Given the description of an element on the screen output the (x, y) to click on. 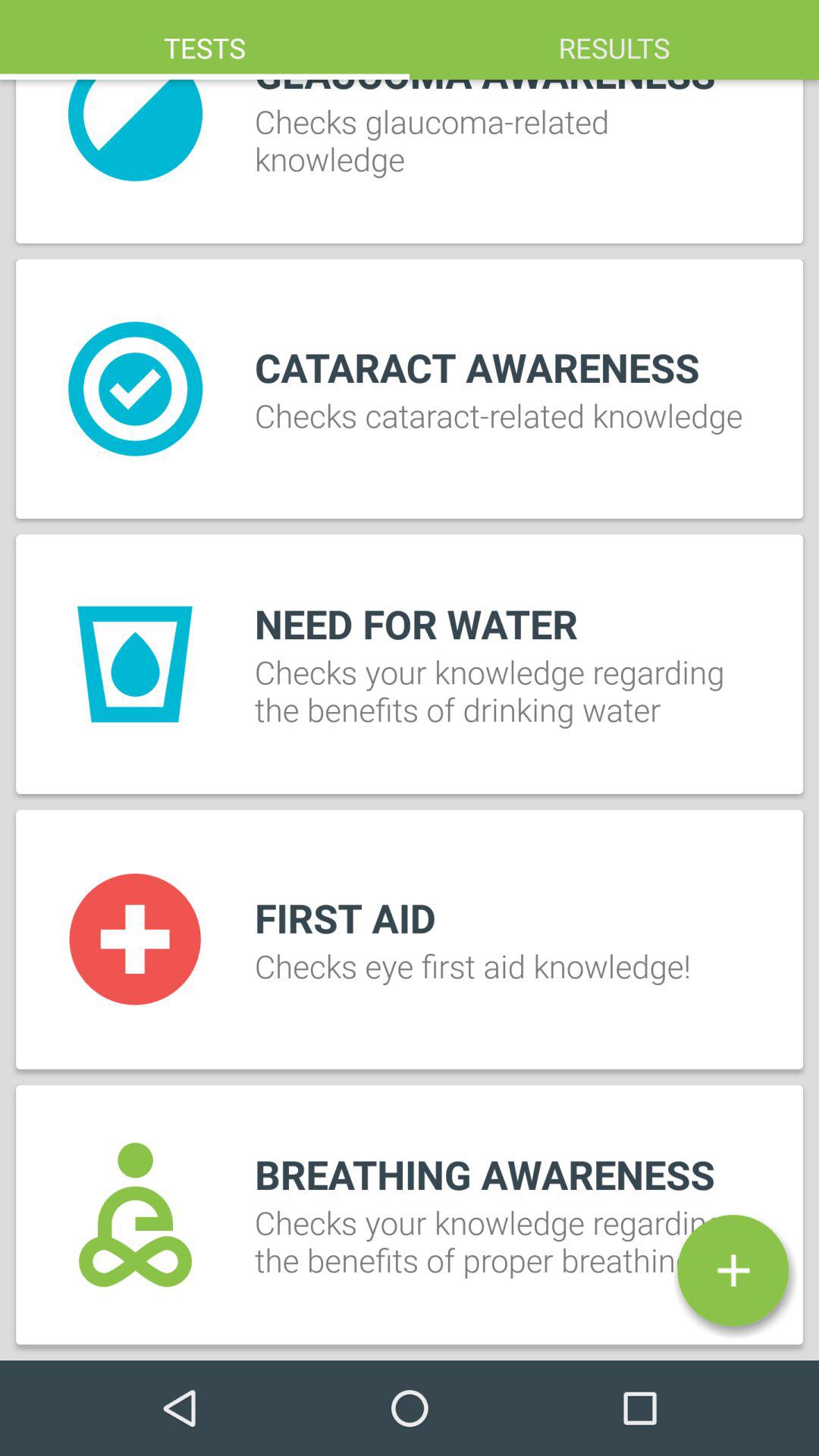
tap the icon next to results (204, 39)
